Given the description of an element on the screen output the (x, y) to click on. 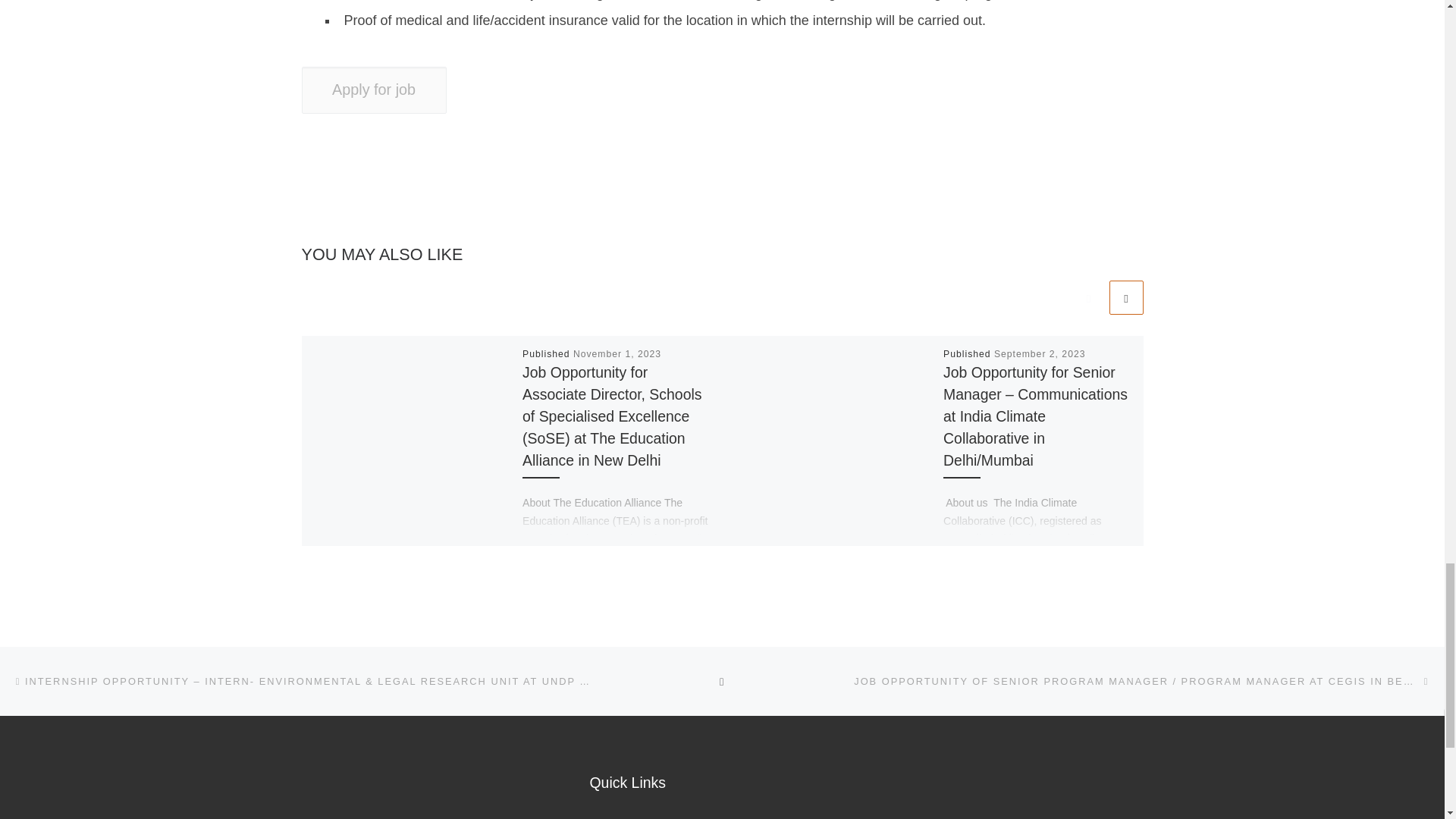
Next related articles (1125, 297)
Apply for job (373, 89)
Previous related articles (1088, 297)
